Given the description of an element on the screen output the (x, y) to click on. 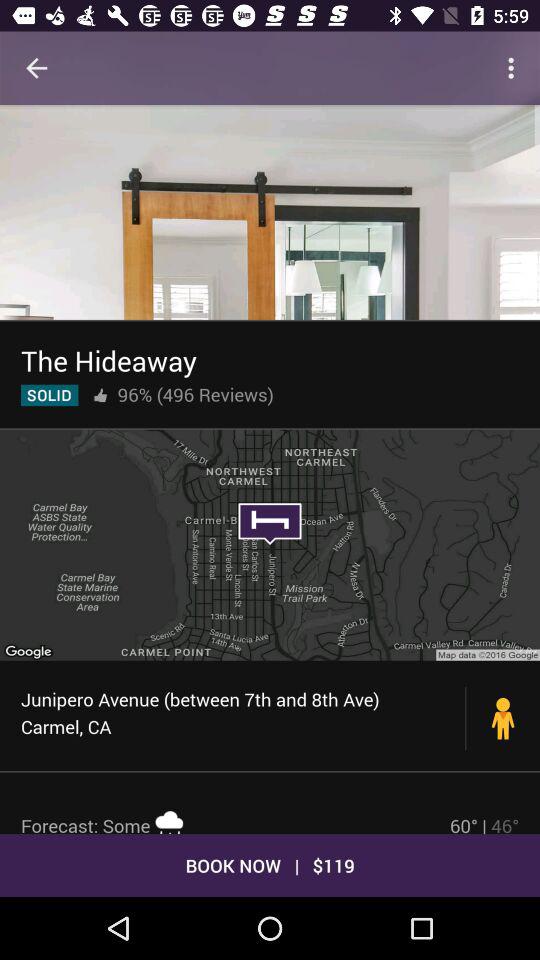
choose book now   |   $119 (270, 864)
